Given the description of an element on the screen output the (x, y) to click on. 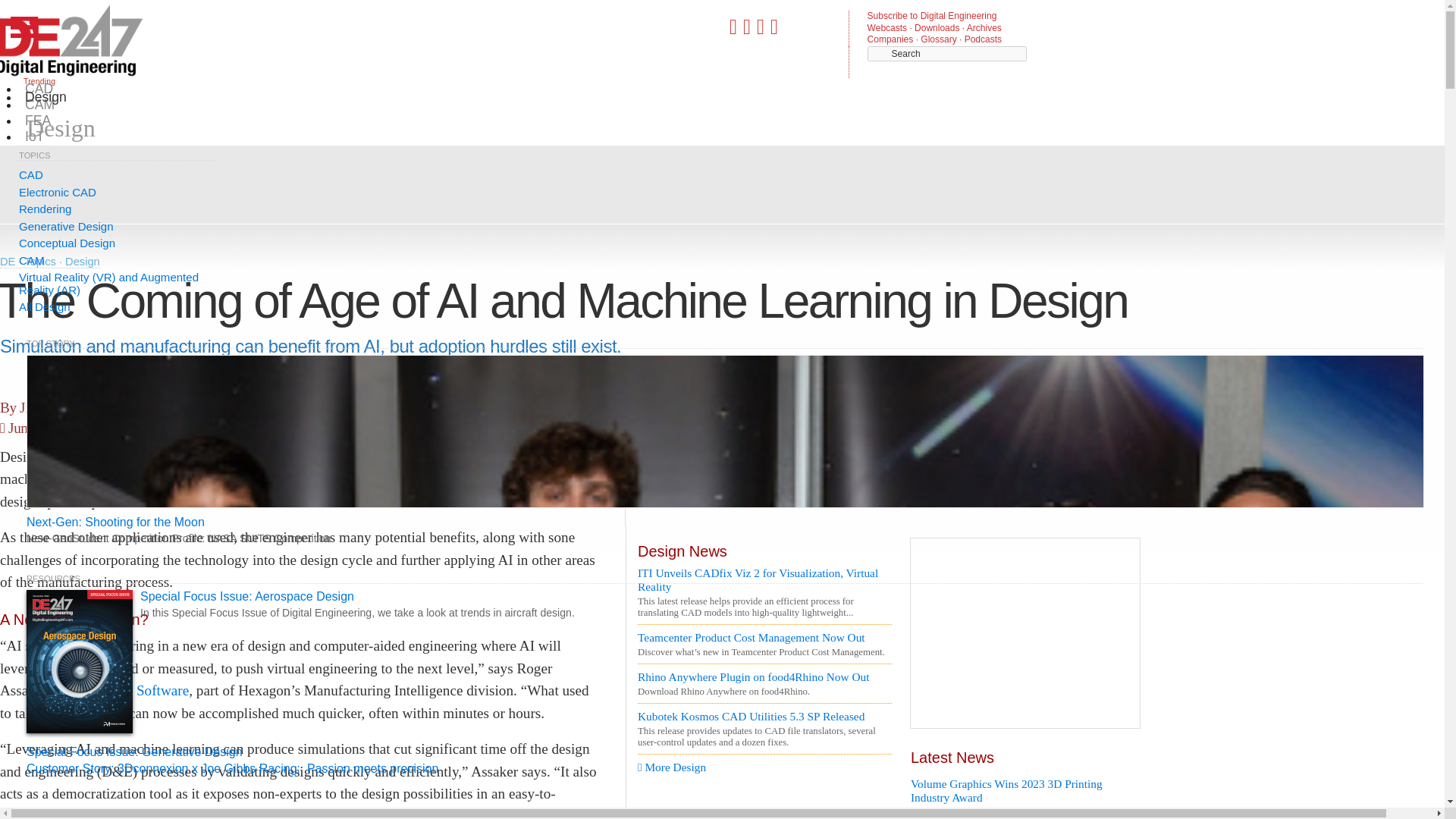
Kubotek Kosmos CAD Utilities 5.3 SP Released (764, 716)
3rd party ad content (571, 182)
Rhino Anywhere Plugin on food4Rhino Now Out (764, 676)
3rd party ad content (1024, 633)
Teamcenter Product Cost Management Now Out (764, 637)
ITI Unveils CADfix Viz 2 for Visualization, Virtual Reality (764, 579)
